Given the description of an element on the screen output the (x, y) to click on. 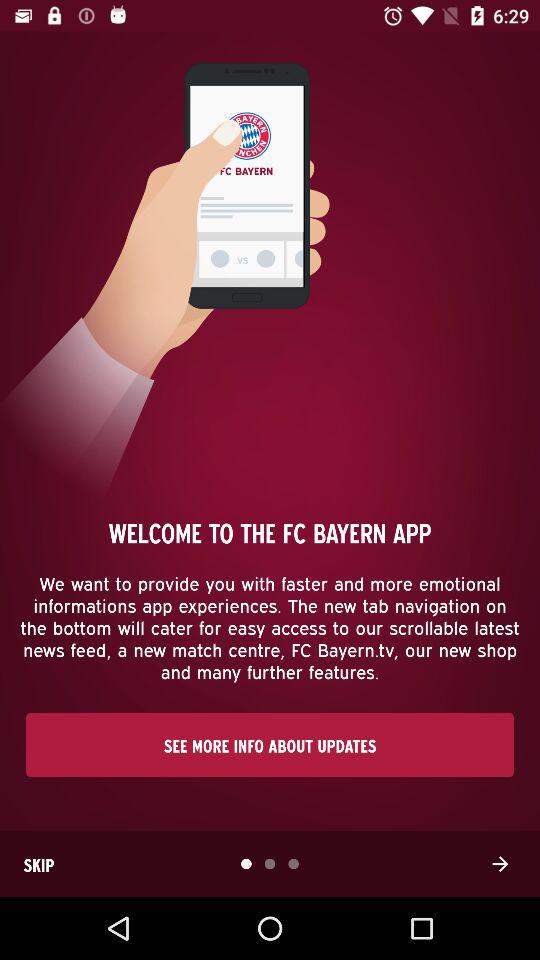
turn off the item to the right of skip (500, 864)
